Given the description of an element on the screen output the (x, y) to click on. 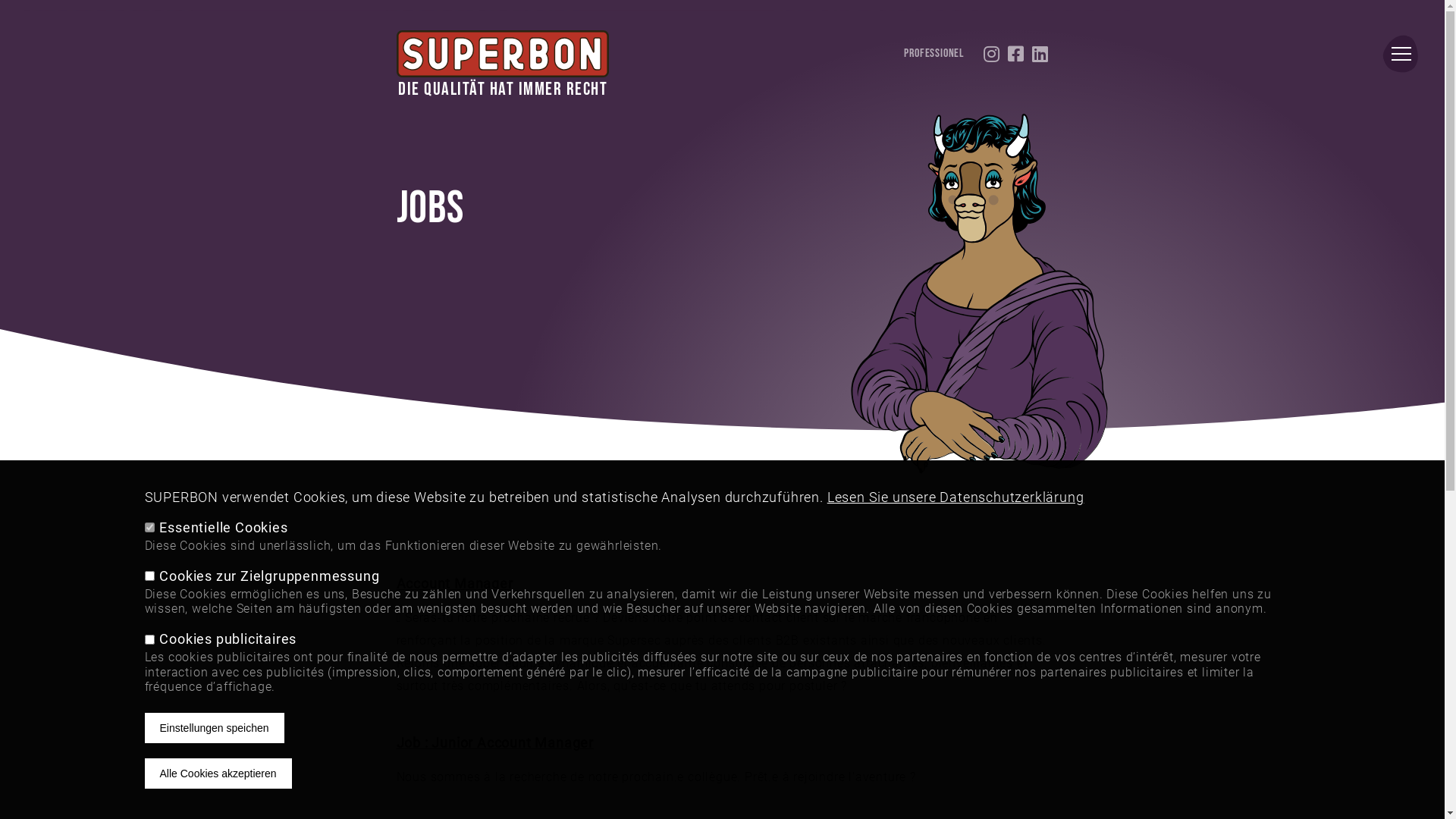
Einstellungen speichen Element type: text (213, 727)
Account Manager Element type: text (453, 583)
Datenschutzeinstellungen Element type: text (721, 444)
Job : Junior Account Manager Element type: text (494, 742)
Professionel Element type: text (933, 53)
Alle Cookies akzeptieren Element type: text (217, 773)
